Given the description of an element on the screen output the (x, y) to click on. 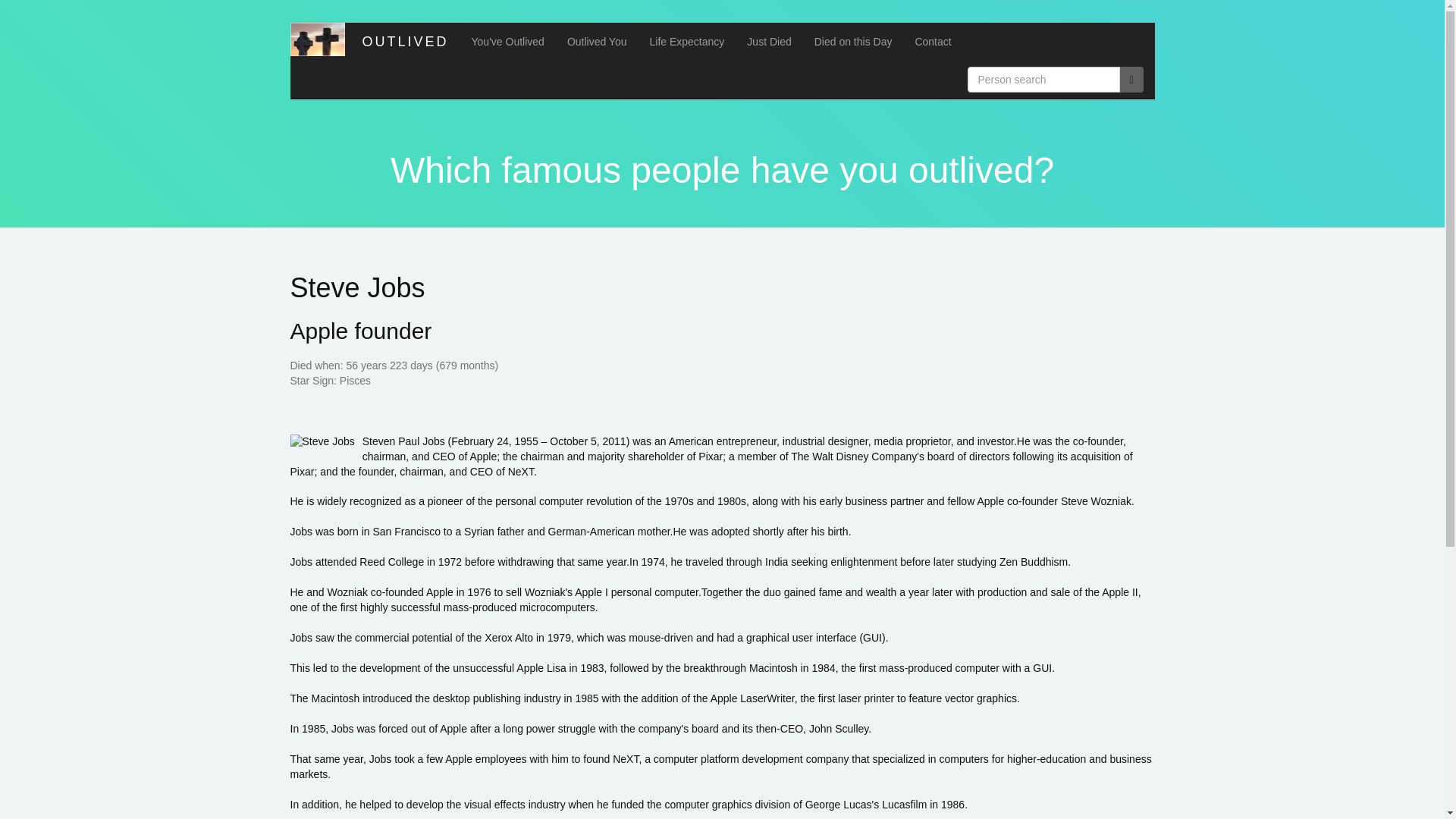
You've Outlived (508, 41)
 OUTLIVED (401, 41)
Life Expectancy (687, 41)
Outlived You (597, 41)
 OUTLIVED (401, 41)
Died on this Day (853, 41)
Contact (932, 41)
Just Died (768, 41)
